Given the description of an element on the screen output the (x, y) to click on. 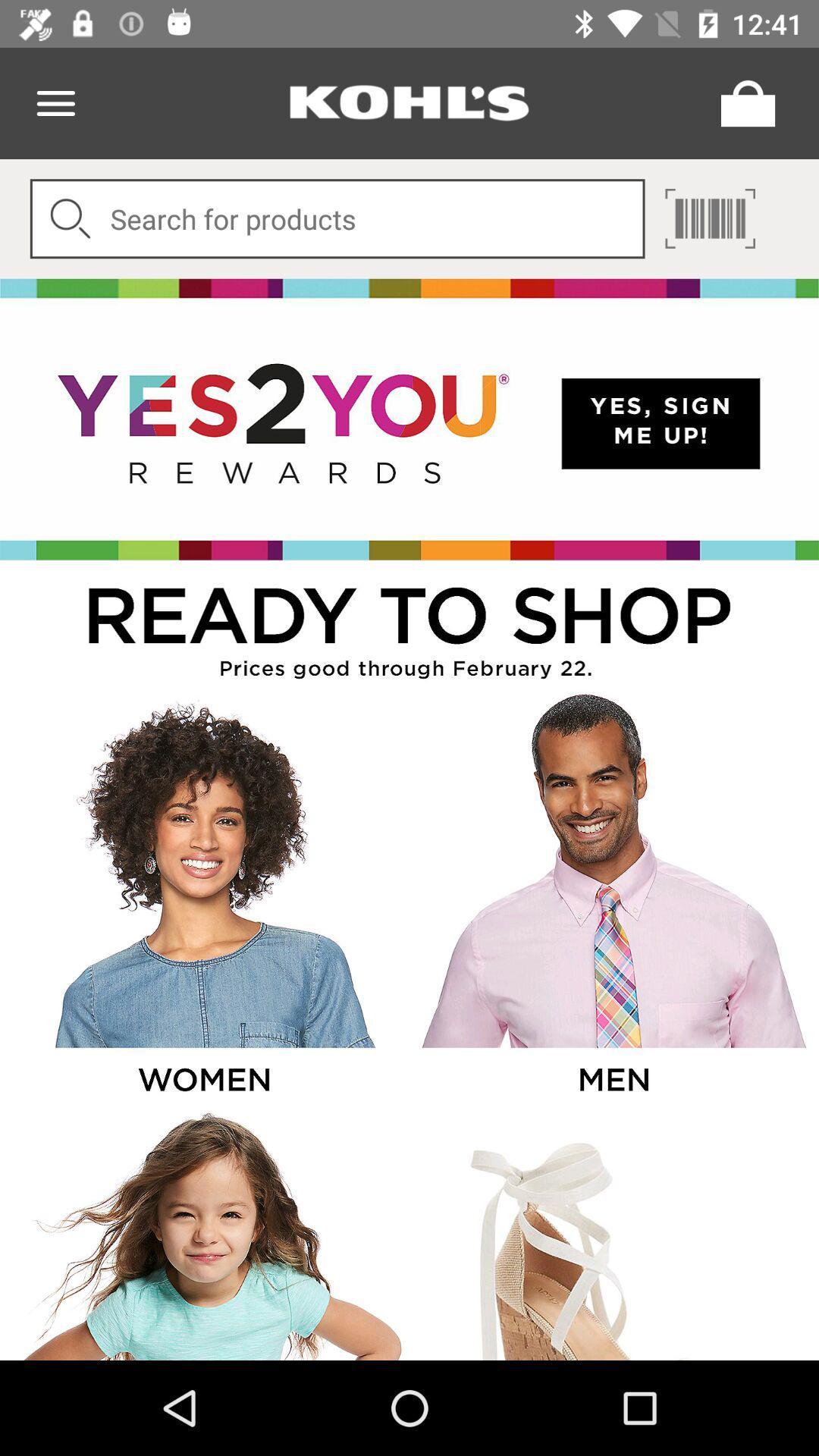
shopping image page (613, 1234)
